Given the description of an element on the screen output the (x, y) to click on. 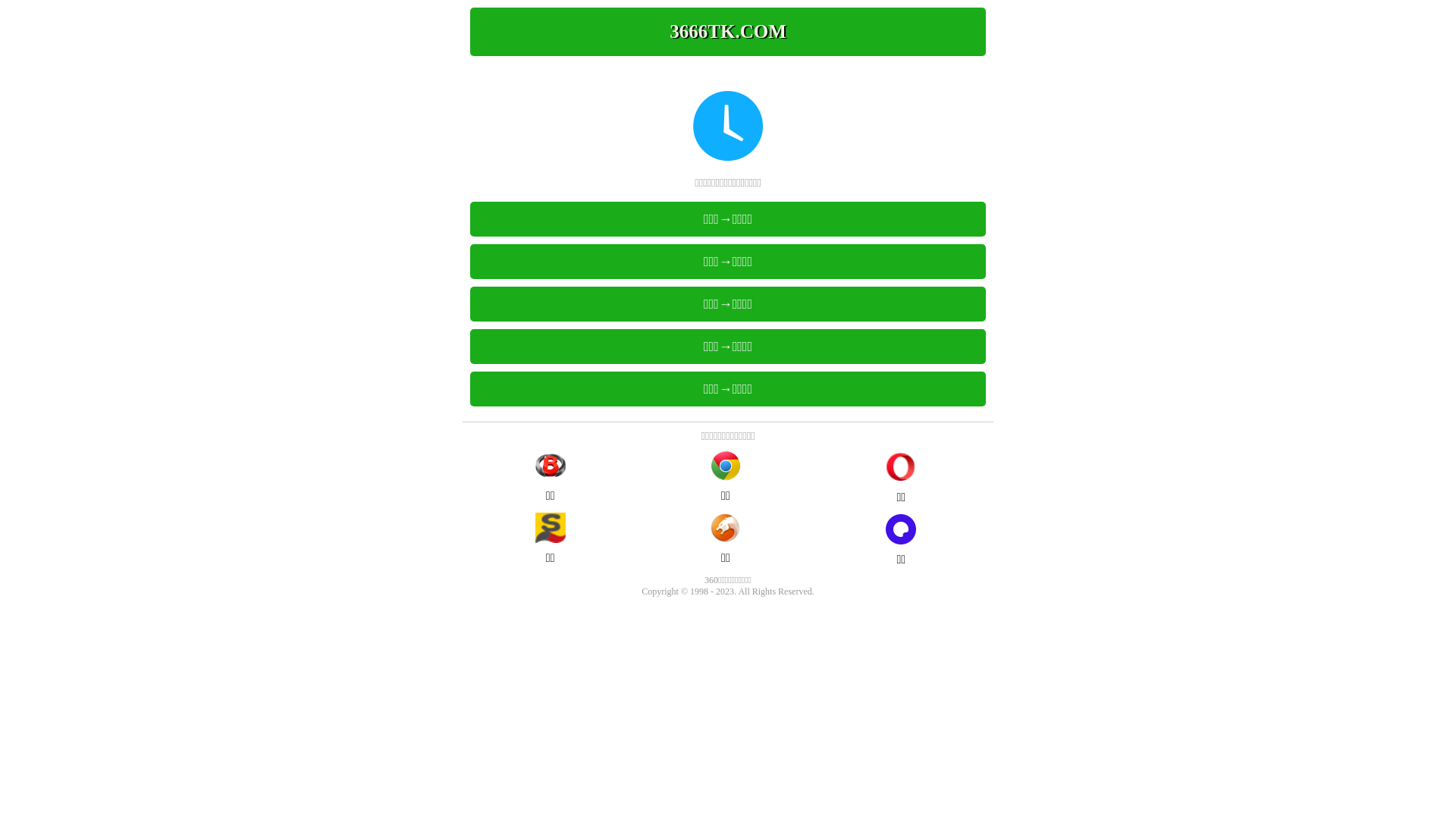
3666TK.COM Element type: text (727, 31)
